Given the description of an element on the screen output the (x, y) to click on. 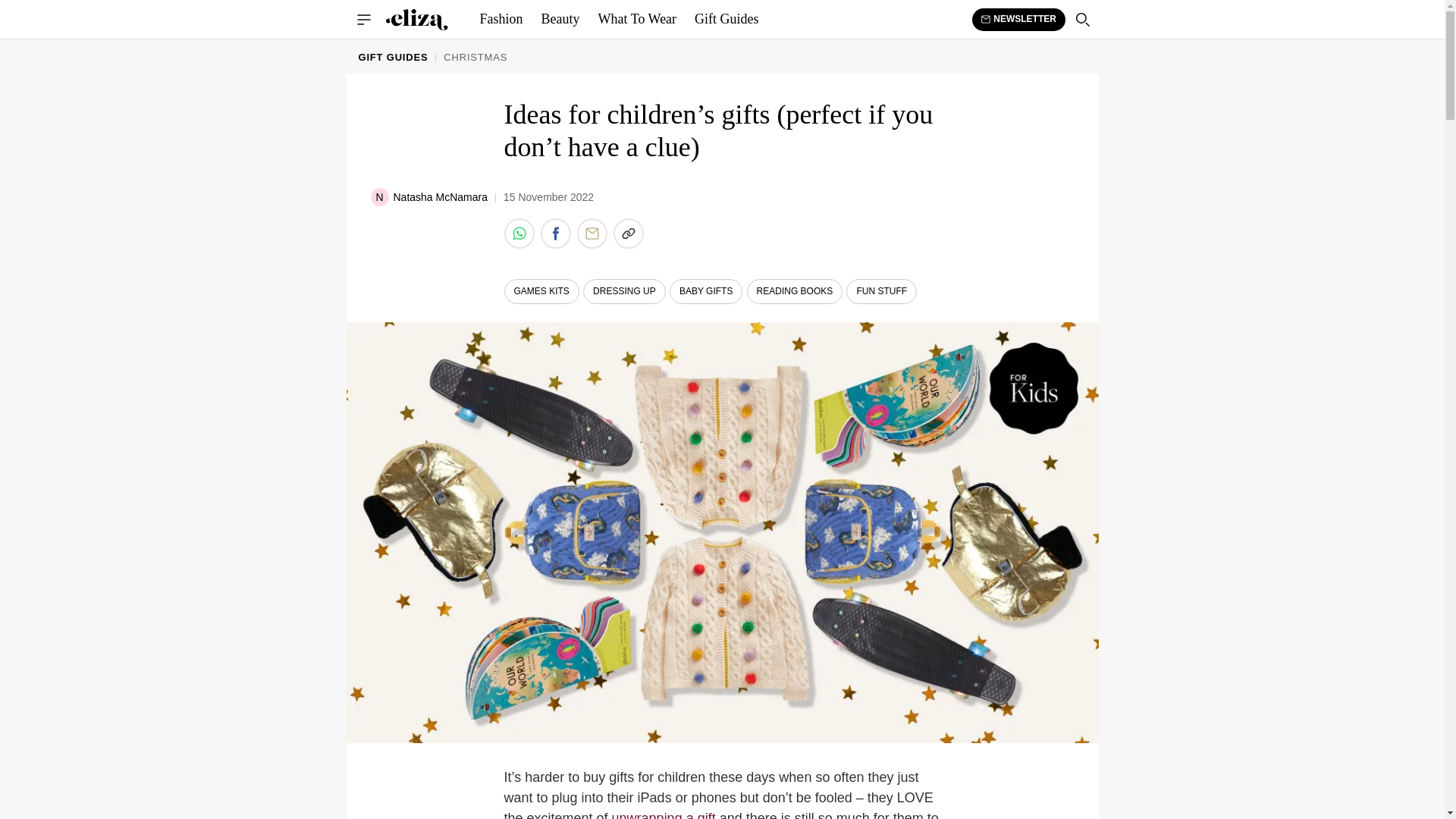
Gift Guides (726, 20)
GIFT GUIDES (393, 56)
NEWSLETTER (1018, 18)
Fashion (500, 20)
Beauty (560, 20)
What To Wear (637, 20)
